Given the description of an element on the screen output the (x, y) to click on. 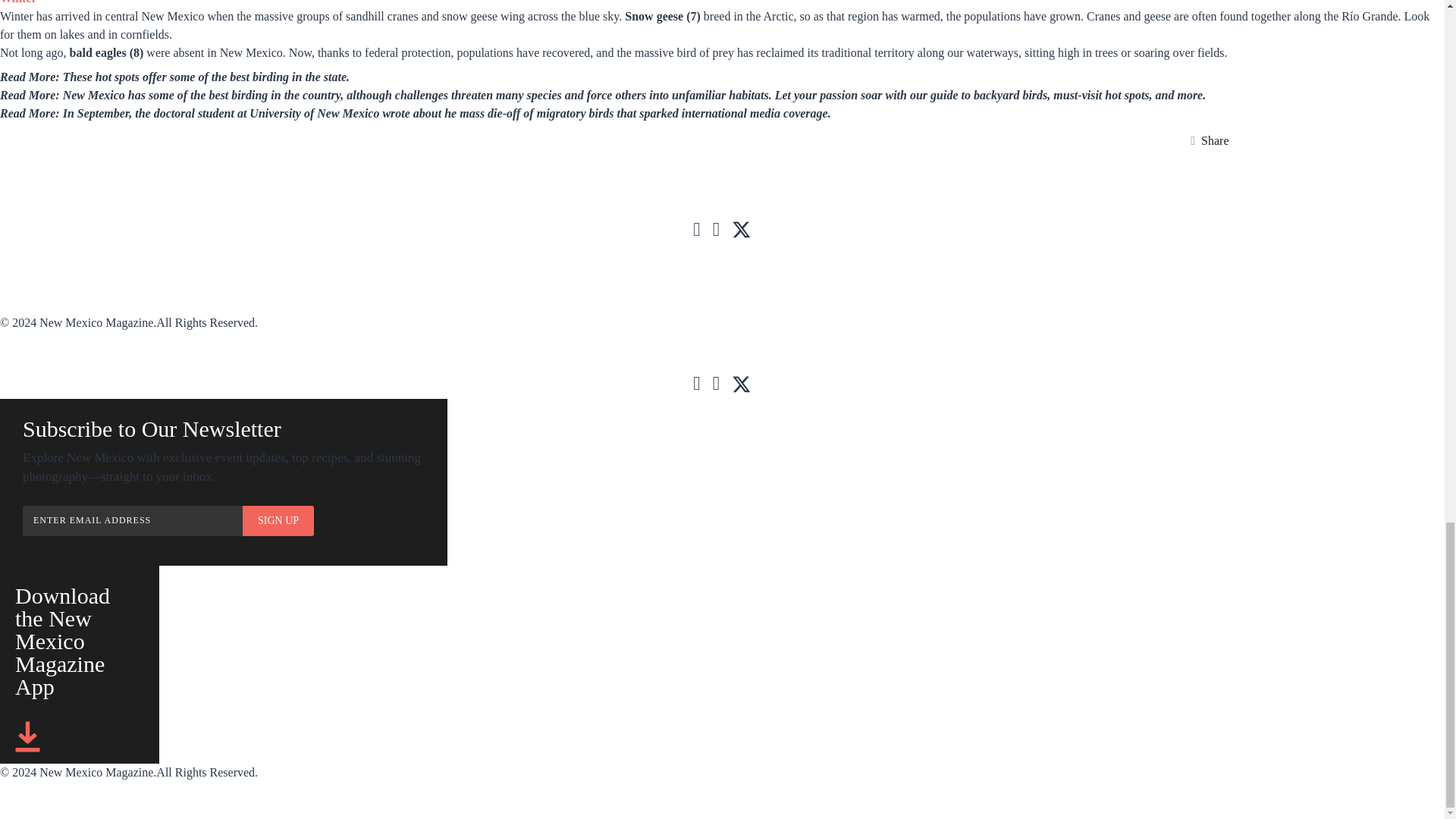
Archive (313, 253)
Advertise (464, 253)
About Us (25, 286)
App (154, 253)
Subscribe (28, 253)
Sitemap (312, 286)
Visit our Twitter page (741, 229)
Store (598, 253)
Contact Us (32, 303)
